Given the description of an element on the screen output the (x, y) to click on. 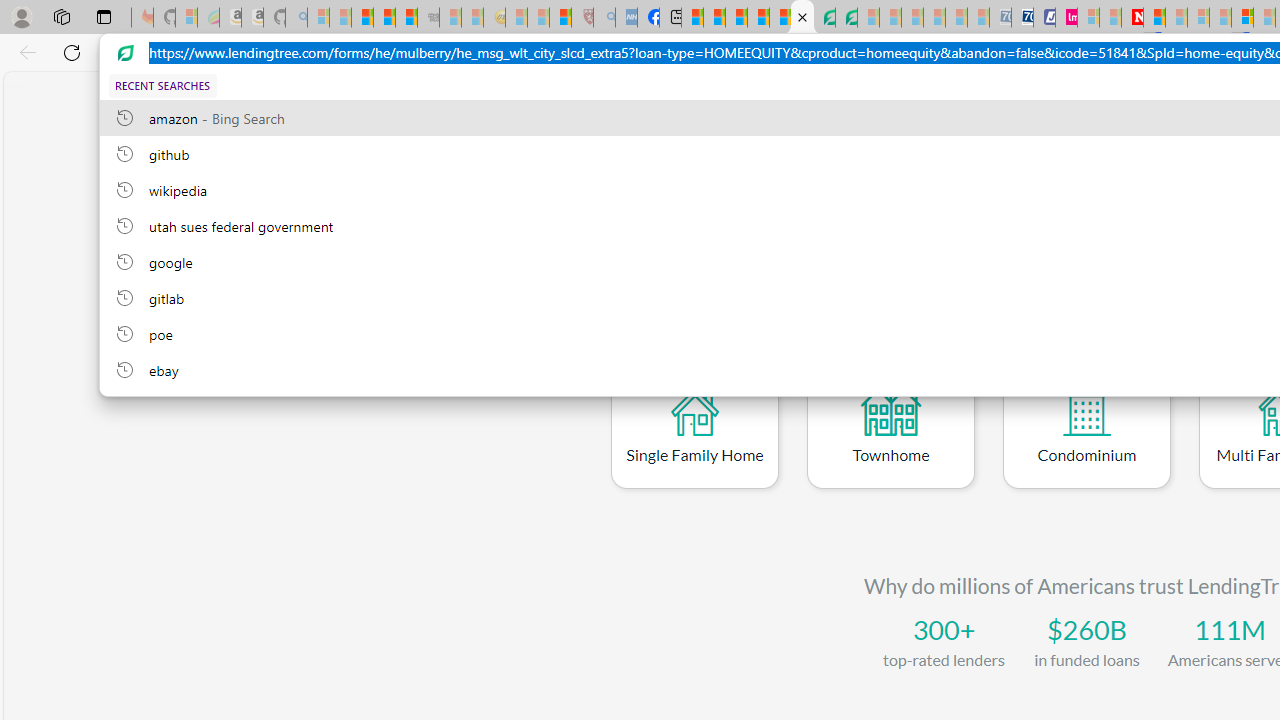
Latest Politics News & Archive | Newsweek.com (1132, 17)
Microsoft Word - consumer-privacy address update 2.2021 (846, 17)
LendingTree - Compare Lenders (802, 17)
New Report Confirms 2023 Was Record Hot | Watch (406, 17)
Jobs - lastminute.com Investor Portal (1066, 17)
